Given the description of an element on the screen output the (x, y) to click on. 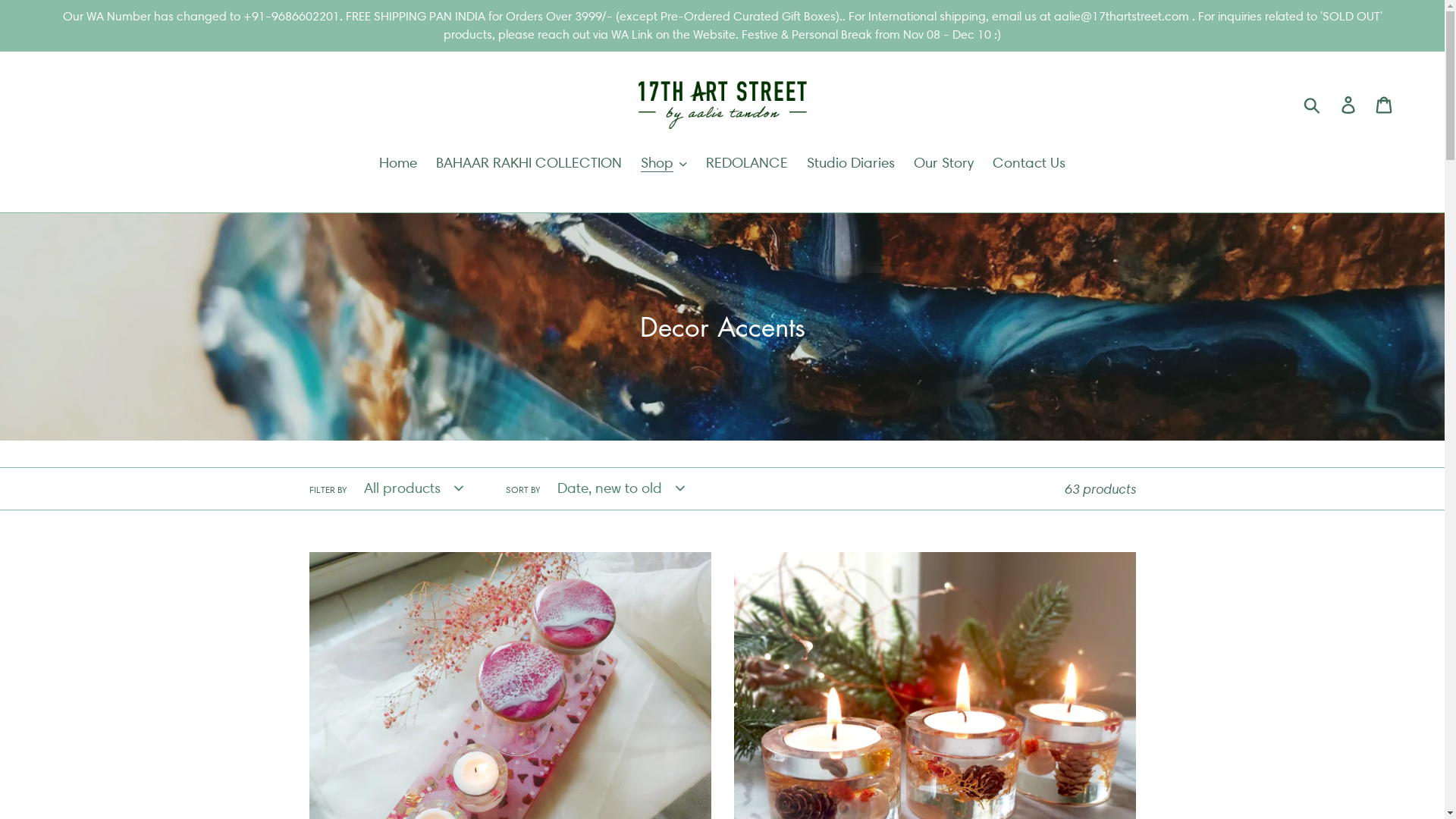
Our Story Element type: text (943, 164)
Home Element type: text (397, 164)
Studio Diaries Element type: text (850, 164)
Cart Element type: text (1384, 103)
REDOLANCE Element type: text (746, 164)
BAHAAR RAKHI COLLECTION Element type: text (528, 164)
Contact Us Element type: text (1029, 164)
Log in Element type: text (1349, 103)
Submit Element type: text (1312, 104)
